Given the description of an element on the screen output the (x, y) to click on. 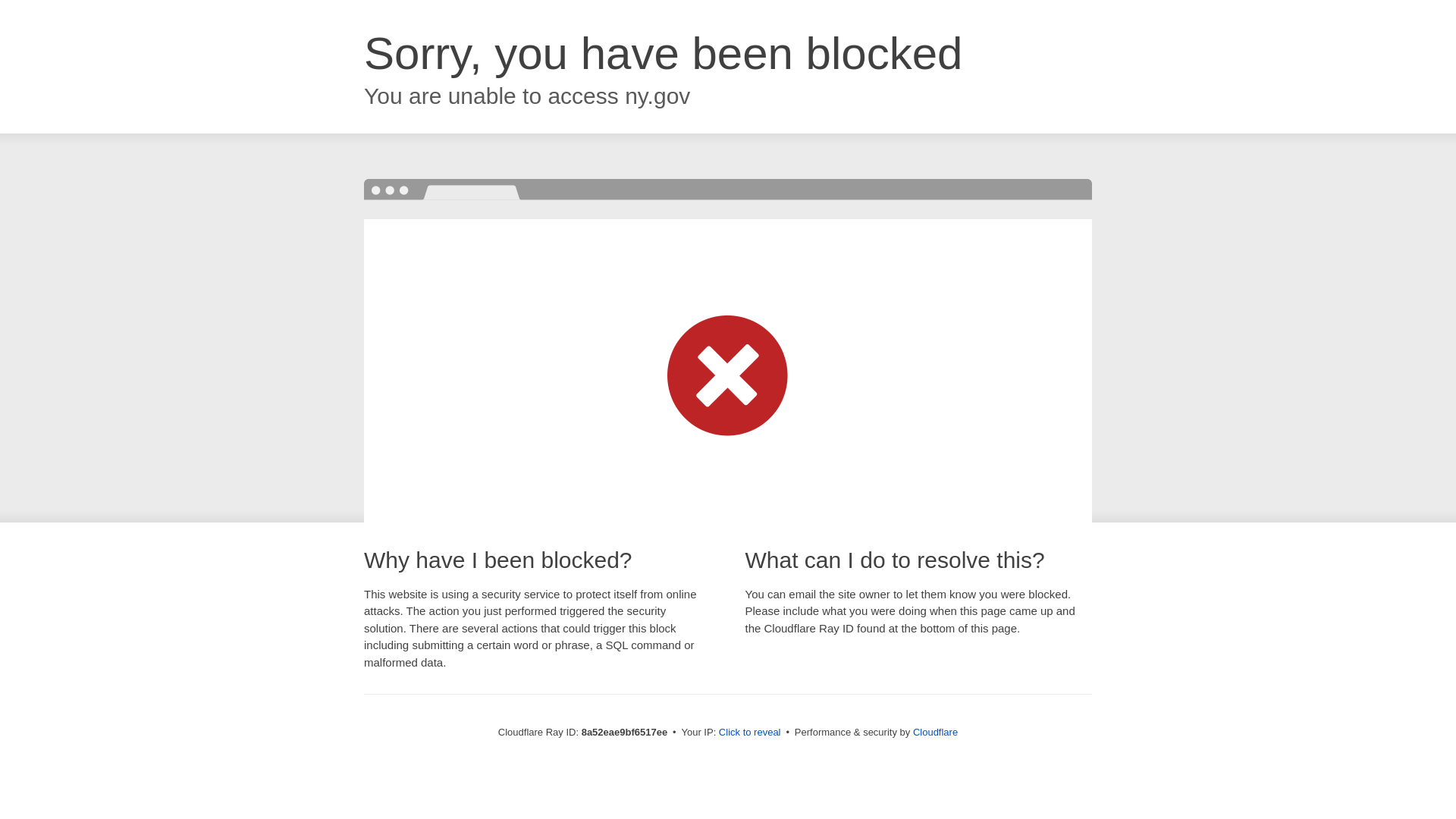
Cloudflare (935, 731)
Click to reveal (749, 732)
